Given the description of an element on the screen output the (x, y) to click on. 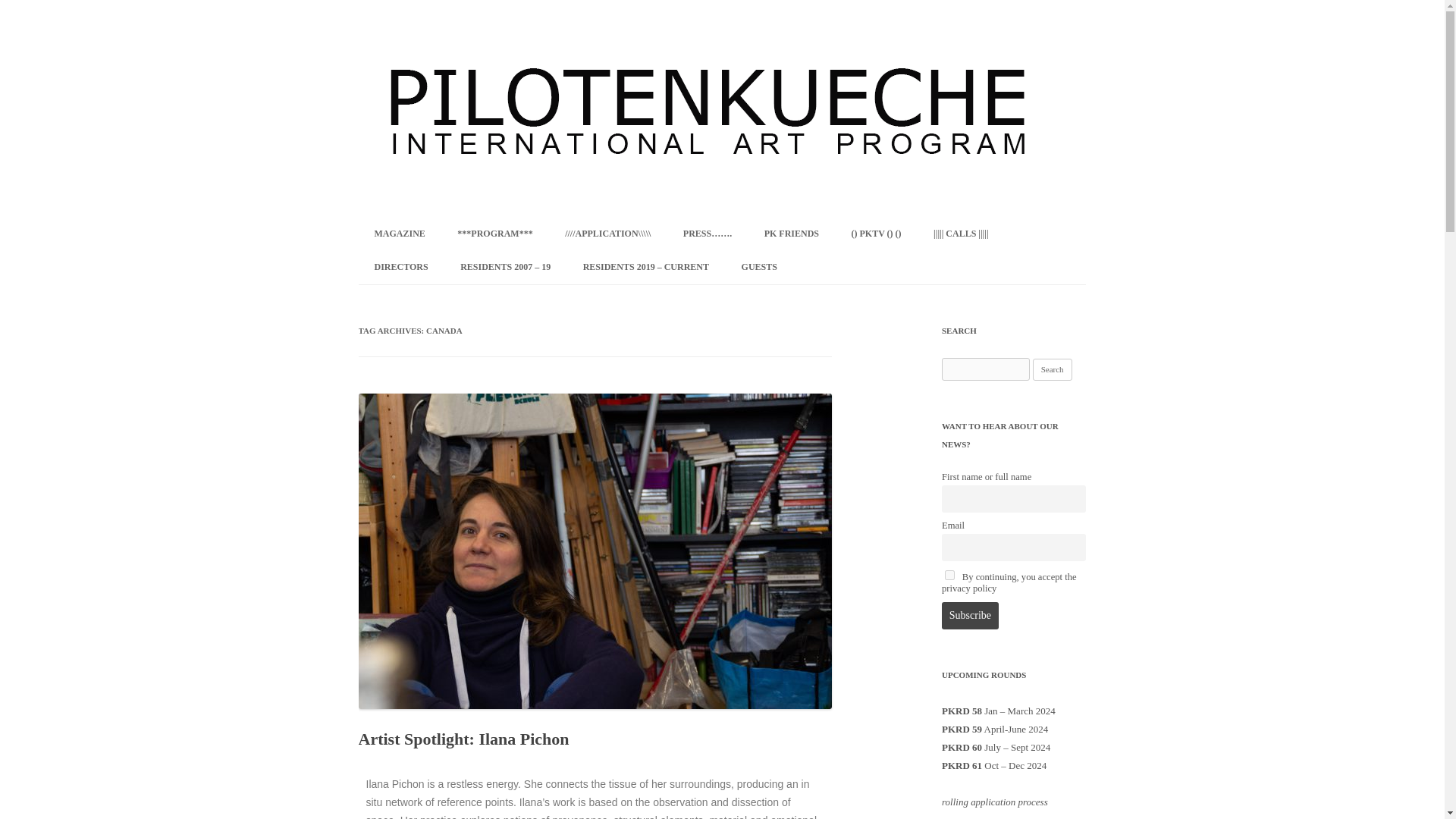
on (949, 574)
MAGAZINE (399, 233)
Artist Spotlight: Ilana Pichon (463, 738)
PILOTENKUECHE (445, 36)
PK FRIENDS (791, 233)
Subscribe (970, 615)
PILOTENKUECHE (445, 36)
GUESTS (759, 266)
Ilana Pichon (394, 784)
DIRECTORS (401, 266)
Search (1051, 369)
